Given the description of an element on the screen output the (x, y) to click on. 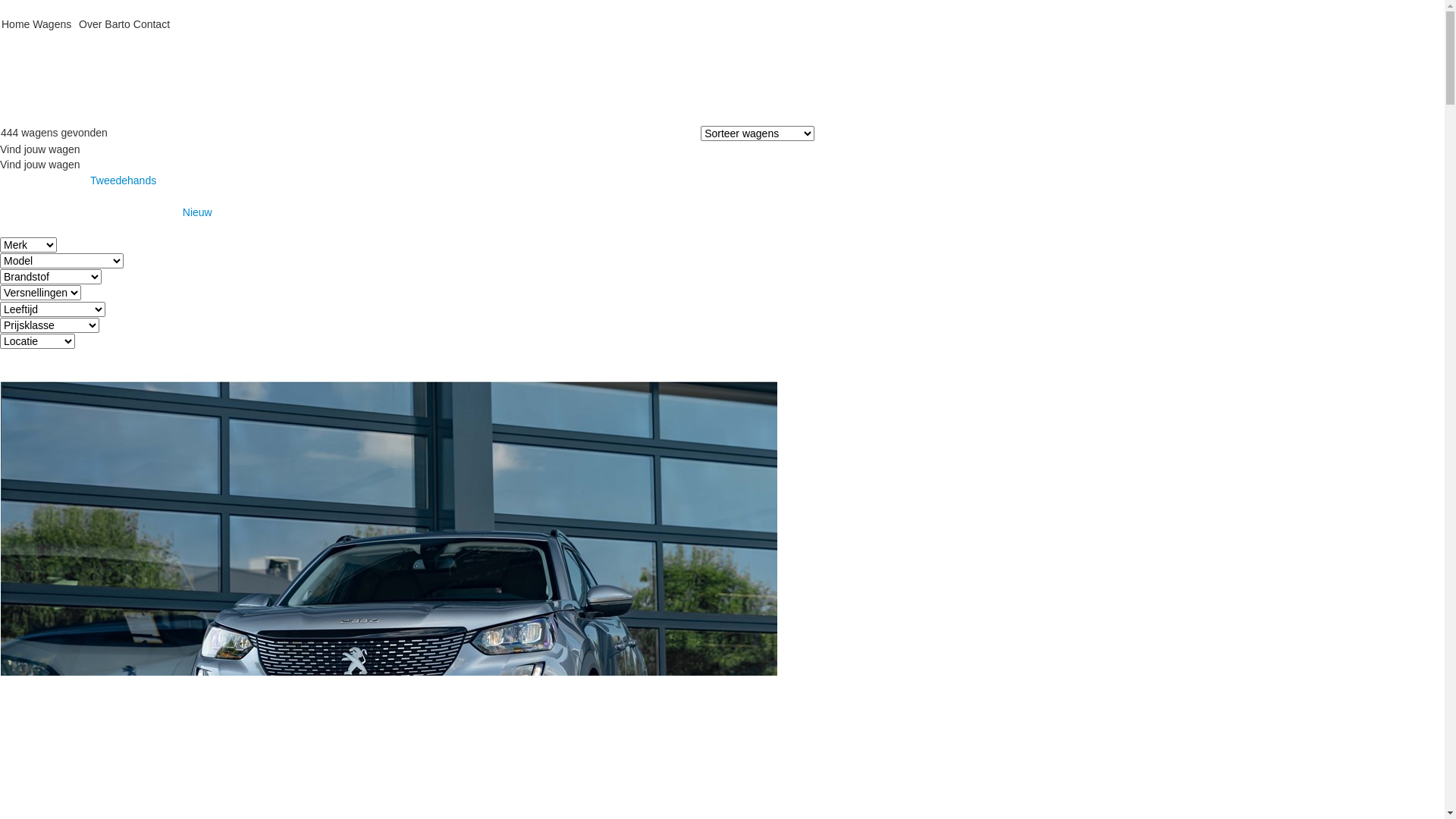
  Element type: text (74, 23)
   Nieuw Element type: text (722, 219)
  Element type: text (79, 40)
   Tweedehands Element type: text (722, 187)
  Element type: text (133, 40)
      Element type: text (722, 71)
Alle wagens Element type: text (28, 116)
Nieuwe stockwagens Element type: text (218, 116)
Tweedehands wagens Element type: text (112, 116)
  Element type: text (1, 40)
  Element type: text (32, 40)
